Given the description of an element on the screen output the (x, y) to click on. 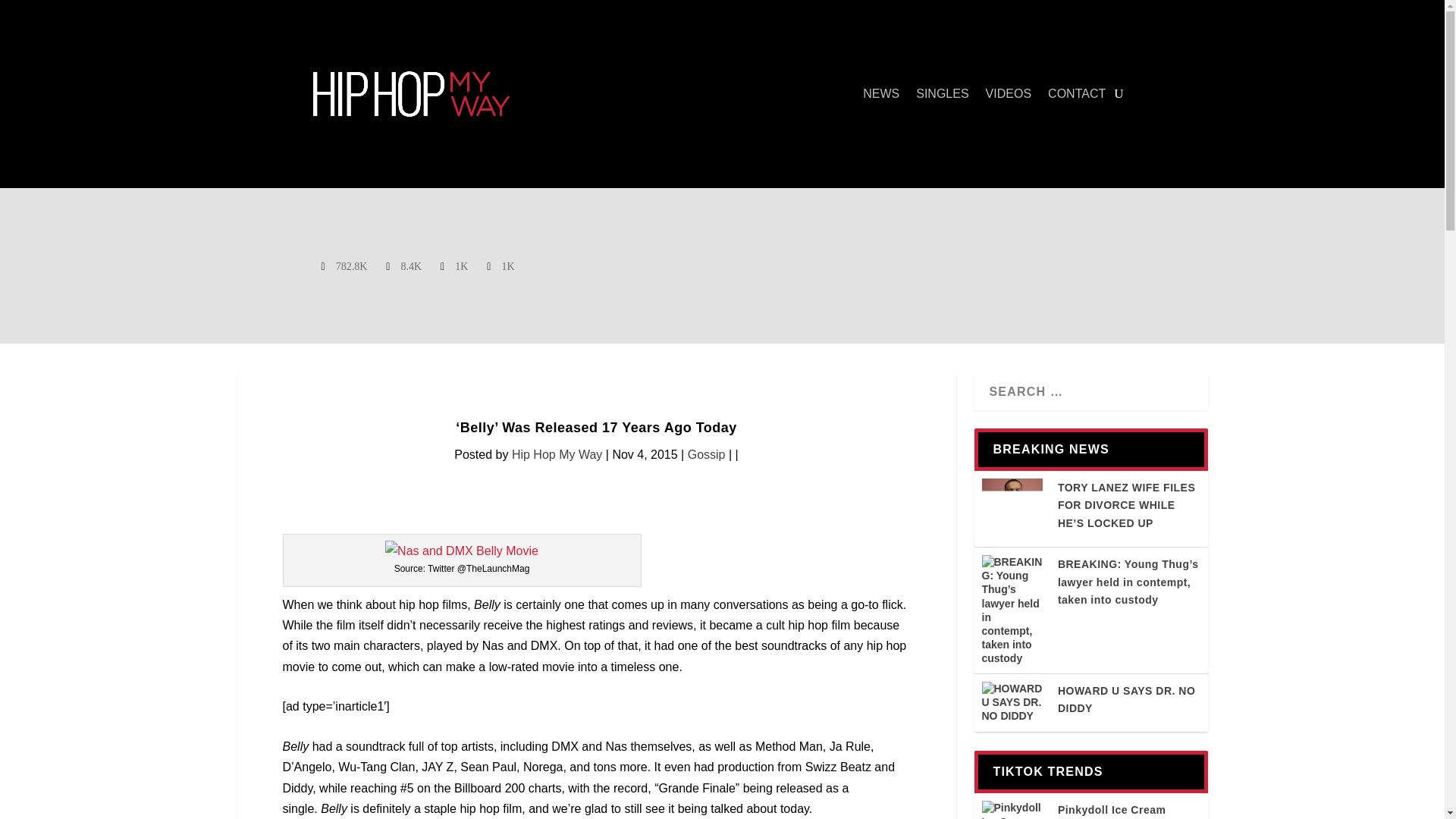
Posts by Hip Hop My Way (557, 454)
Gossip (706, 454)
8.4K (404, 265)
1K (501, 265)
Hip Hop My Way (557, 454)
SINGLES (941, 93)
1K (454, 265)
782.8K (345, 265)
CONTACT (1076, 93)
